Given the description of an element on the screen output the (x, y) to click on. 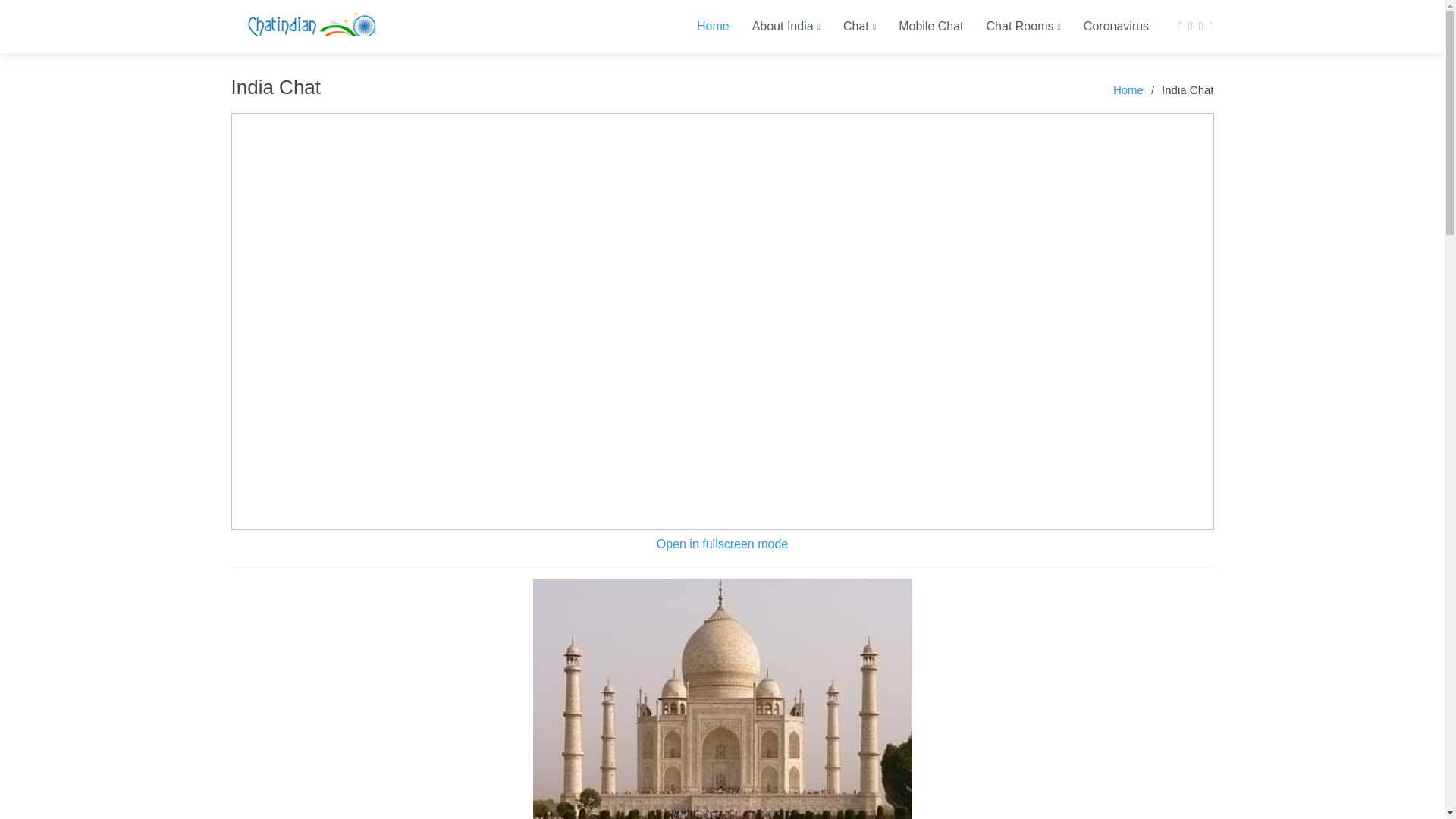
Mobile Chat (919, 26)
Coronavirus (1104, 26)
Home (701, 26)
Mobile Chat (919, 26)
About India (775, 26)
Home (701, 26)
Chat Rooms (1012, 26)
Chat (848, 26)
Home Page (309, 26)
